Given the description of an element on the screen output the (x, y) to click on. 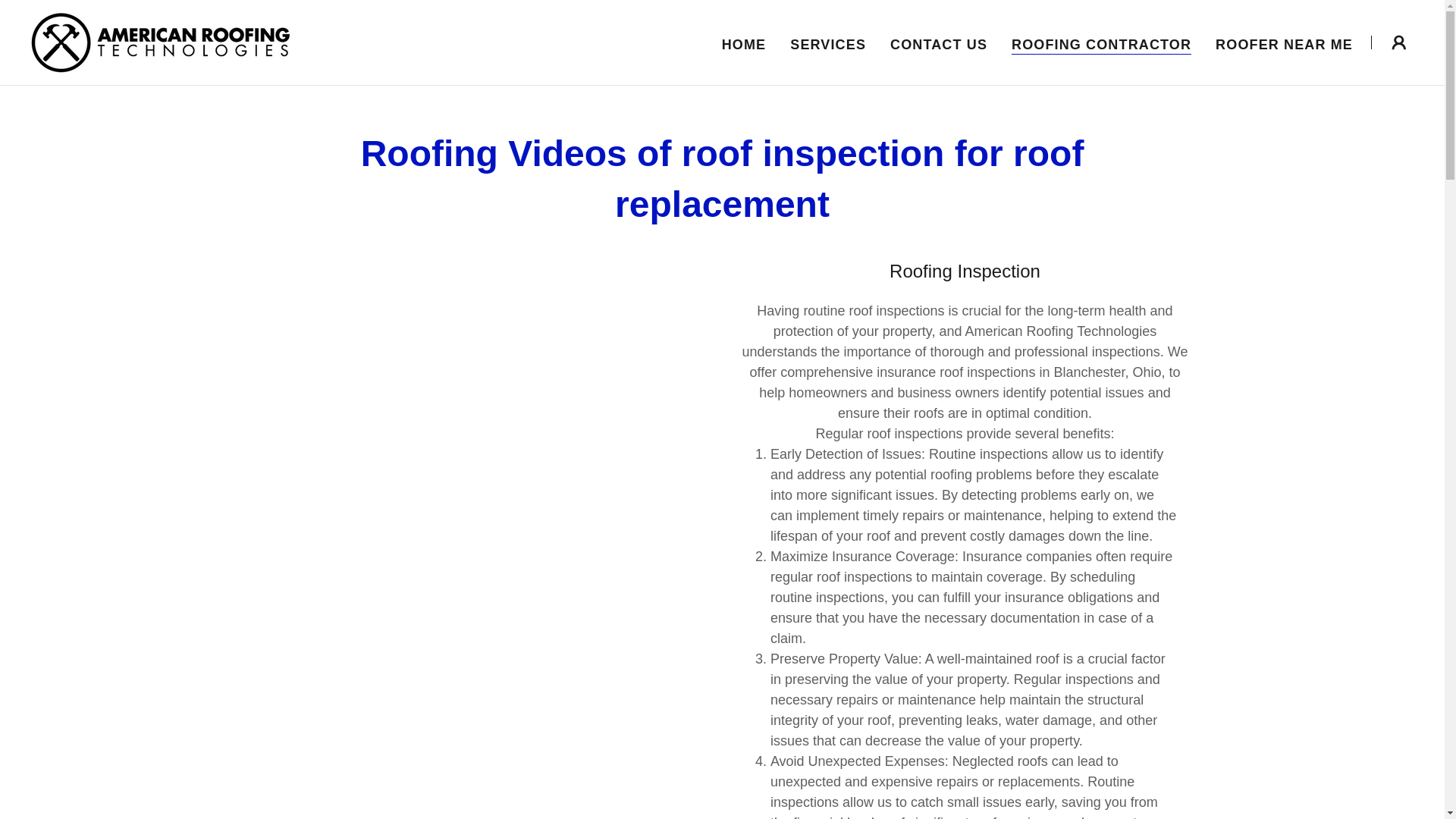
CONTACT US (938, 43)
HOME (744, 43)
ROOFER NEAR ME (1283, 43)
SERVICES (828, 43)
American Roofing Technologies (160, 41)
ROOFING CONTRACTOR (1101, 44)
